Given the description of an element on the screen output the (x, y) to click on. 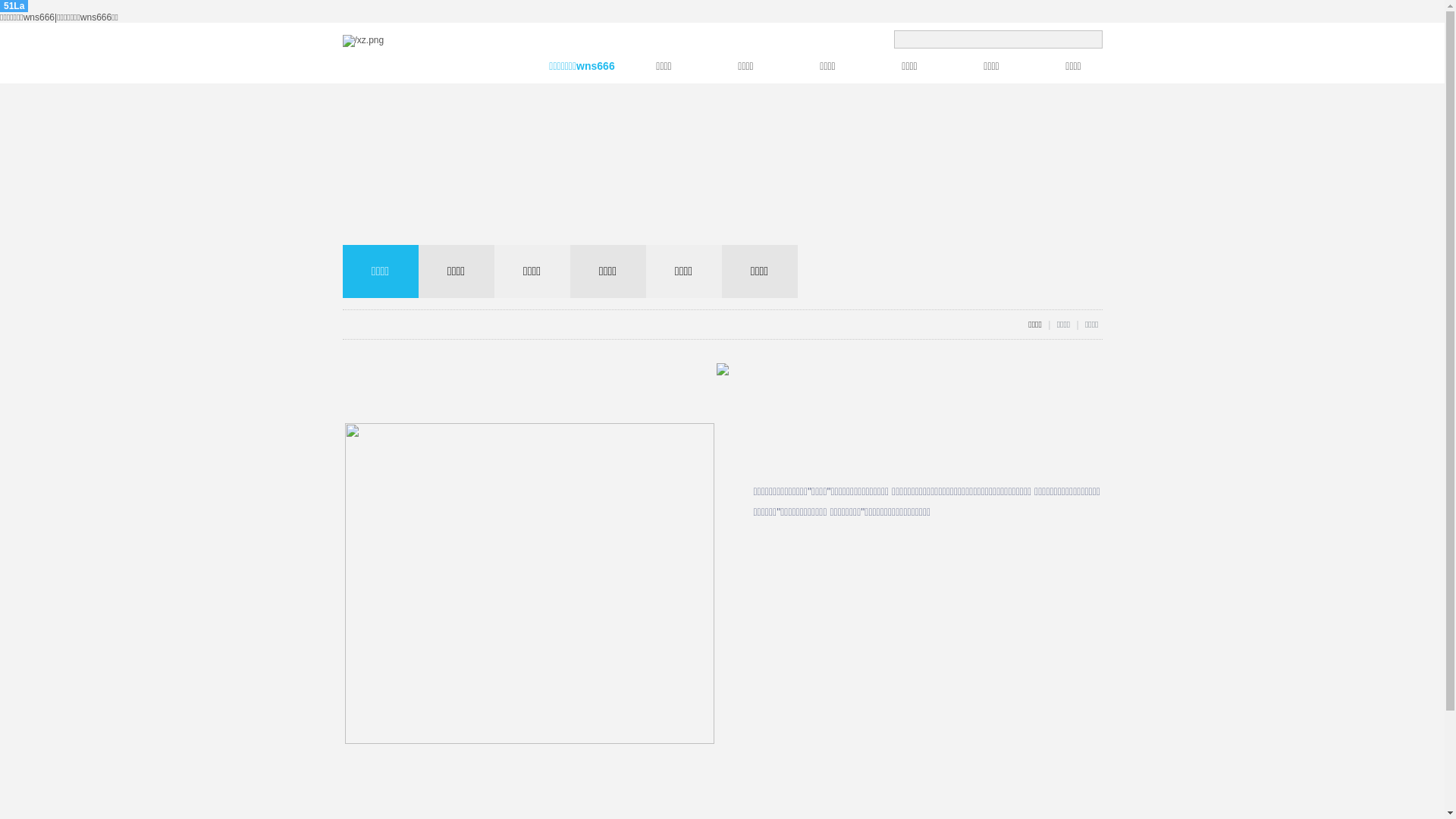
51La Element type: text (14, 5)
